Given the description of an element on the screen output the (x, y) to click on. 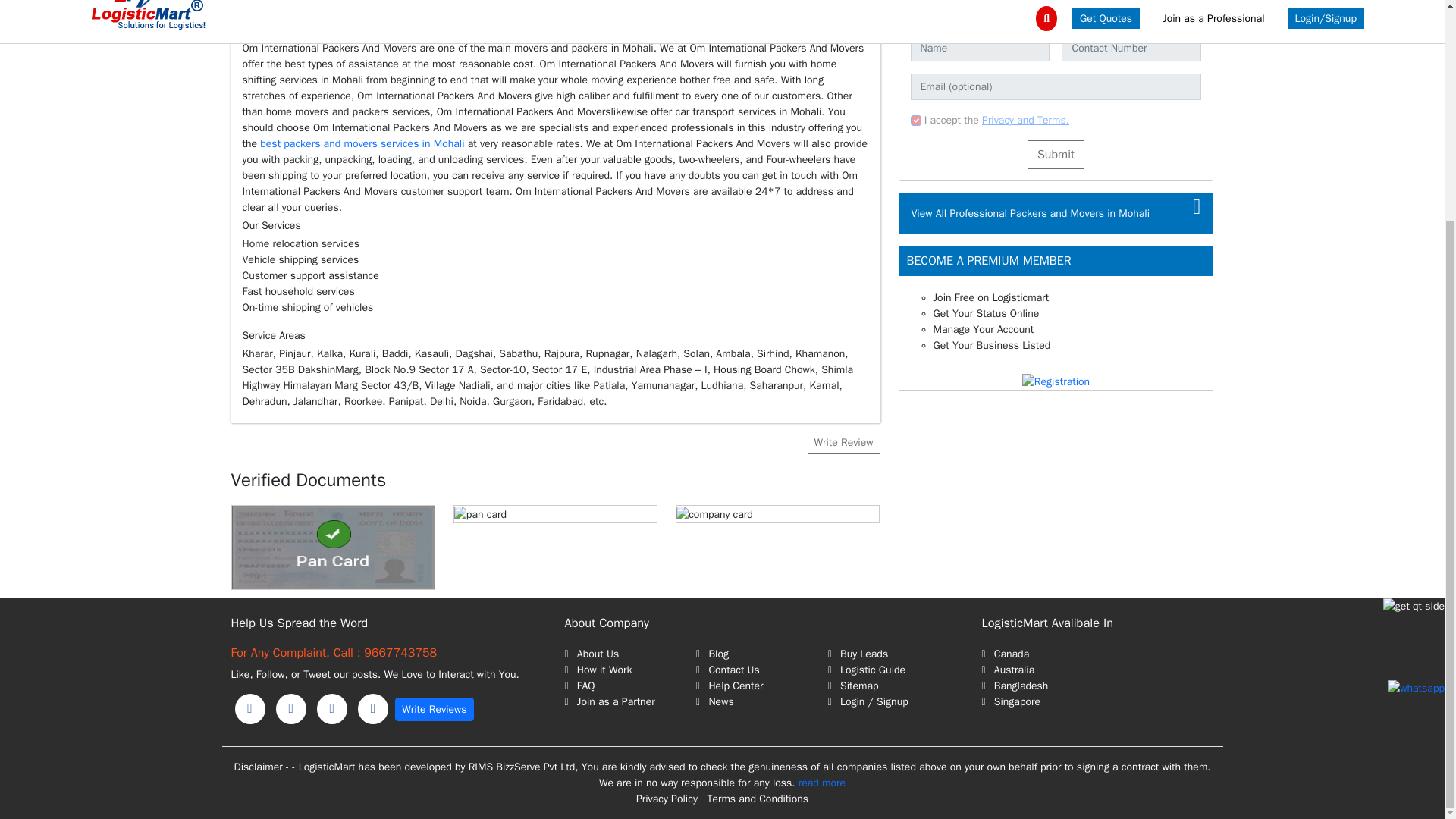
View All Professional Packers and Movers in Mohali (1030, 213)
Australia (1096, 669)
Write Review (842, 442)
Privacy and Terms. (1024, 119)
Buy Leads (893, 653)
linkedin (290, 708)
Terms and Conditions (757, 798)
FAQ (629, 685)
News (761, 701)
read more (821, 782)
Canada (1096, 653)
Singapore (1096, 701)
About Us (629, 653)
Logistic Guide (893, 669)
best packers and movers services in Mohali (363, 143)
